Given the description of an element on the screen output the (x, y) to click on. 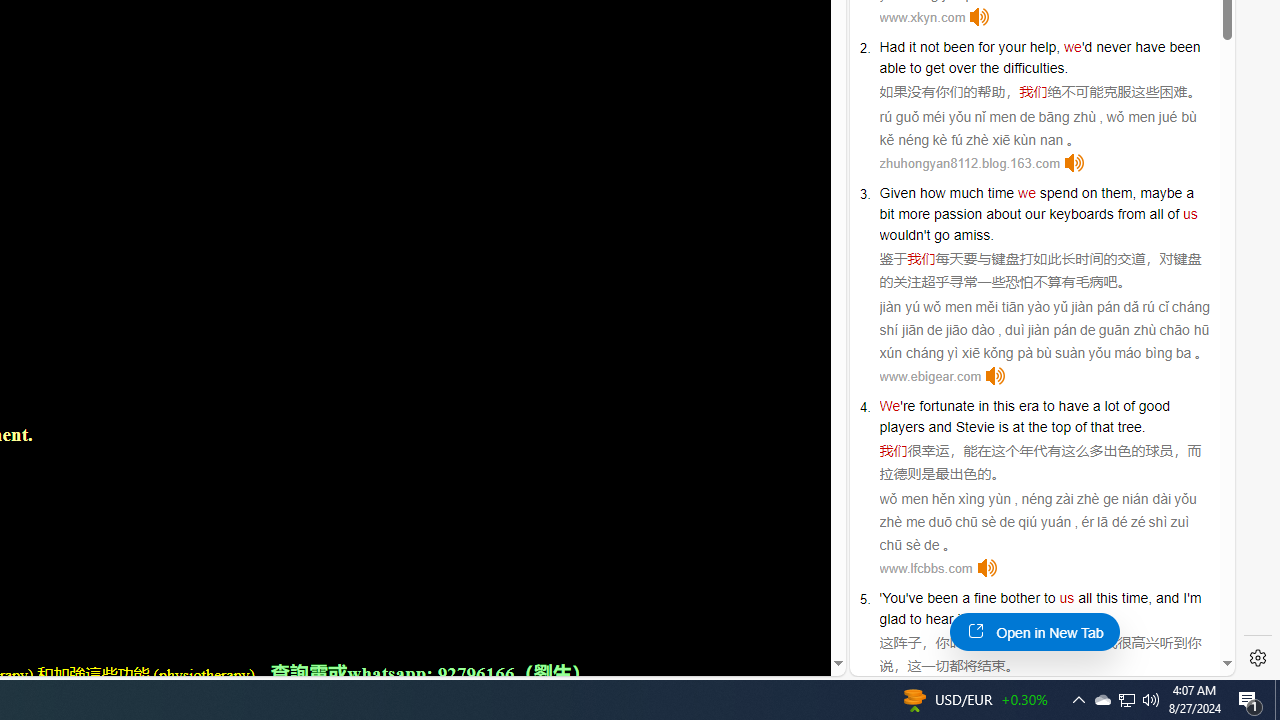
spend (1058, 192)
and (940, 426)
of (1173, 213)
. (1060, 619)
www.lfcbbs.com (925, 568)
to (1048, 405)
have (1073, 405)
amiss (971, 234)
era (1028, 405)
' (881, 597)
www.ebigear.com (930, 375)
